Given the description of an element on the screen output the (x, y) to click on. 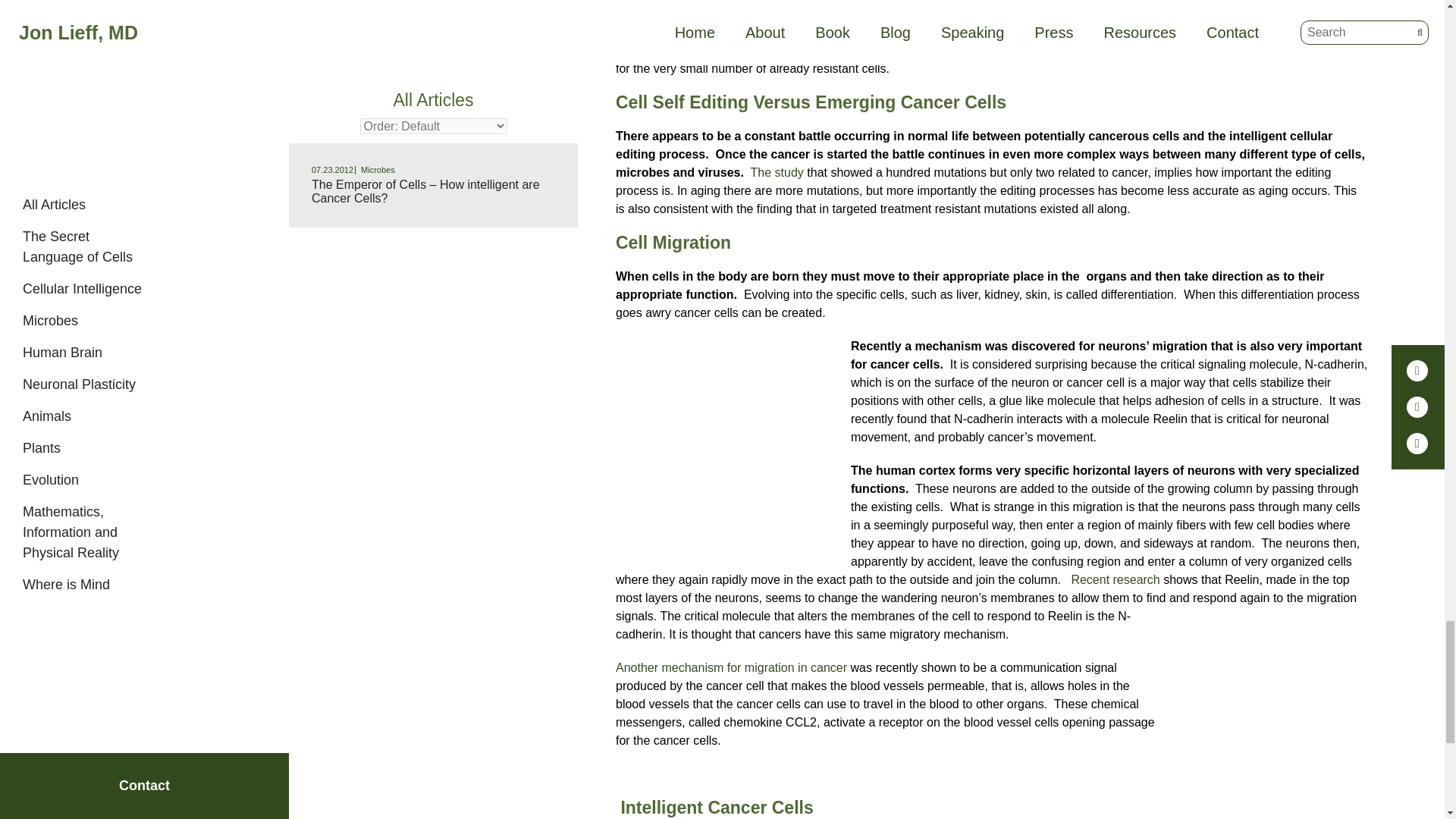
The study (777, 172)
